Given the description of an element on the screen output the (x, y) to click on. 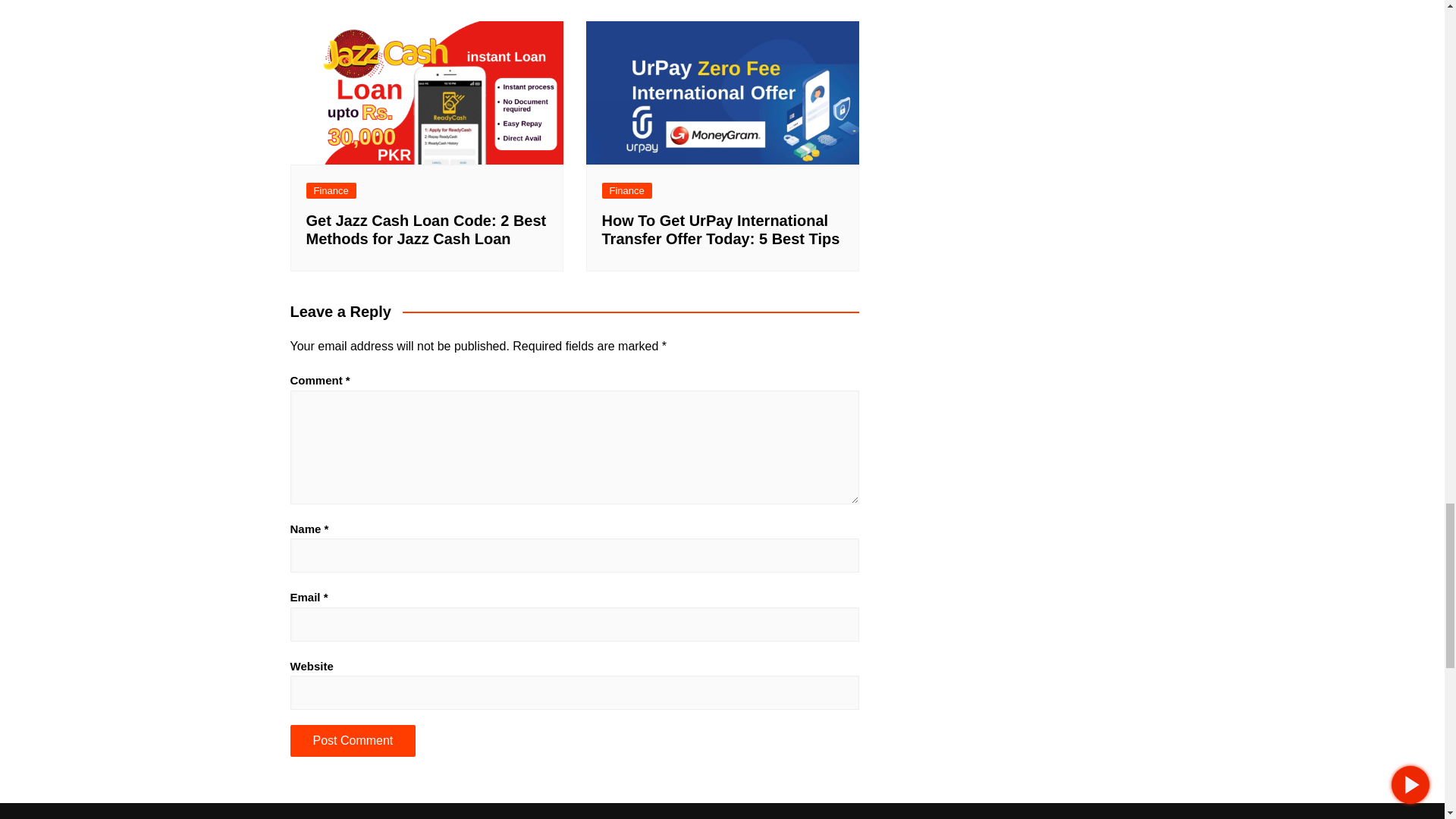
Finance (627, 190)
Finance (330, 190)
Get Jazz Cash Loan Code: 2 Best Methods for Jazz Cash Loan (426, 229)
Post Comment (351, 740)
